Given the description of an element on the screen output the (x, y) to click on. 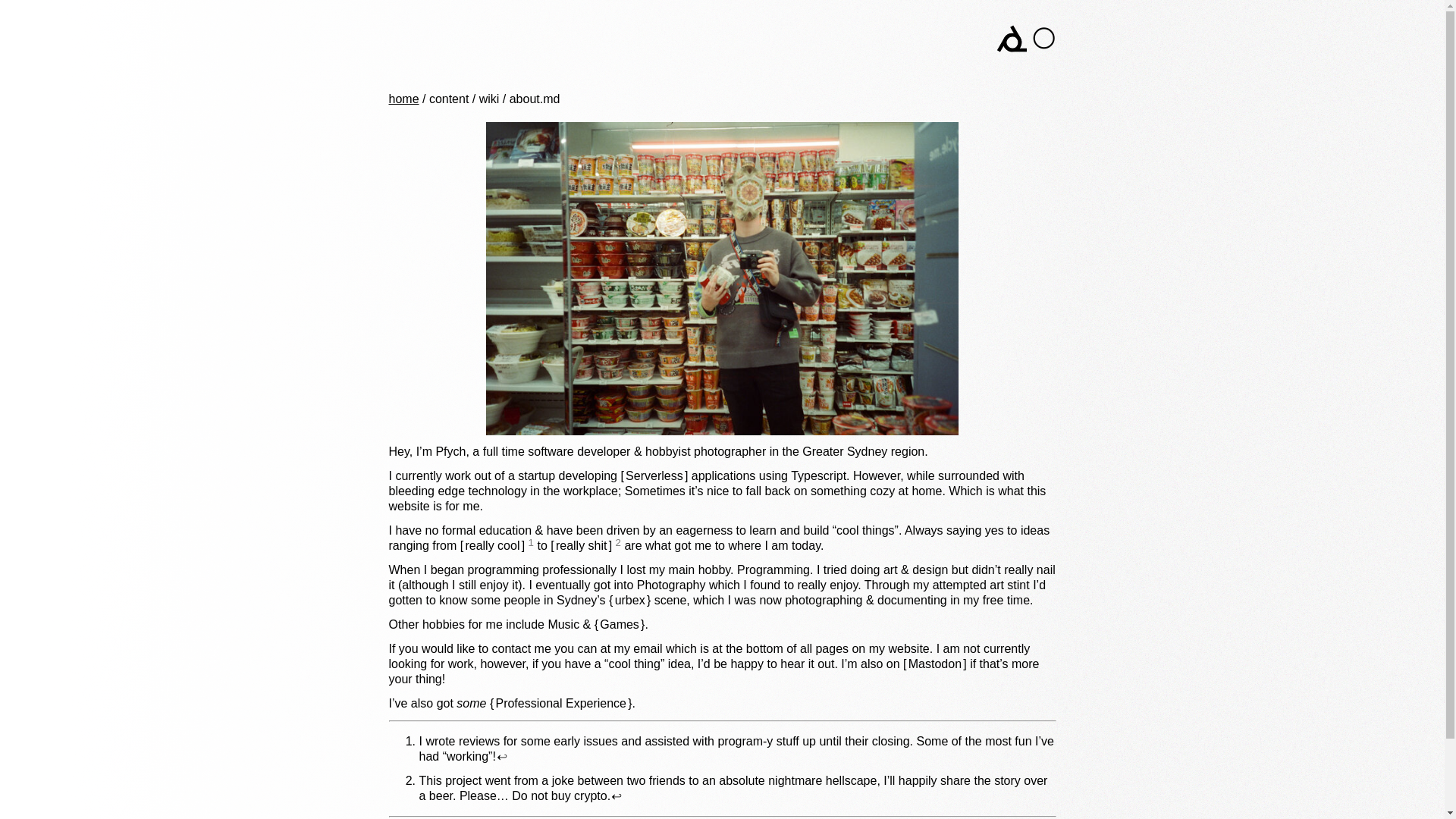
urbex (629, 599)
Change theme (1043, 37)
really cool (492, 545)
Serverless (653, 475)
Mastodon (934, 663)
really shit (580, 545)
Games (619, 624)
home (403, 98)
Professional Experience (560, 703)
pfy.ch (440, 35)
